Given the description of an element on the screen output the (x, y) to click on. 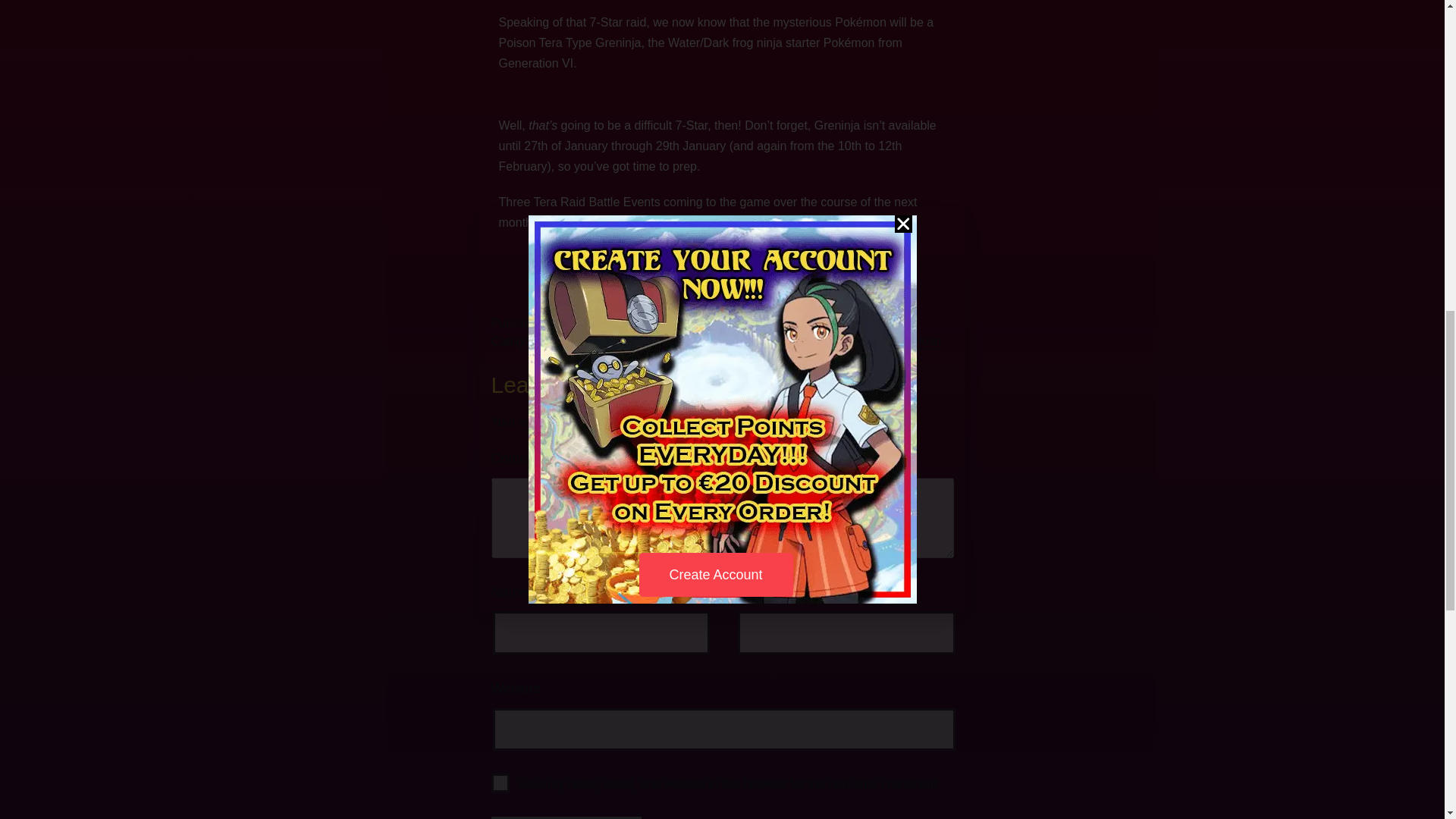
news (590, 341)
trade (892, 341)
pokemon (803, 341)
friends (715, 341)
Tutorial (630, 341)
scarlet (853, 341)
violet (926, 341)
Post Comment (567, 817)
ThePokeFactory (703, 323)
online (756, 341)
yes (500, 782)
